Given the description of an element on the screen output the (x, y) to click on. 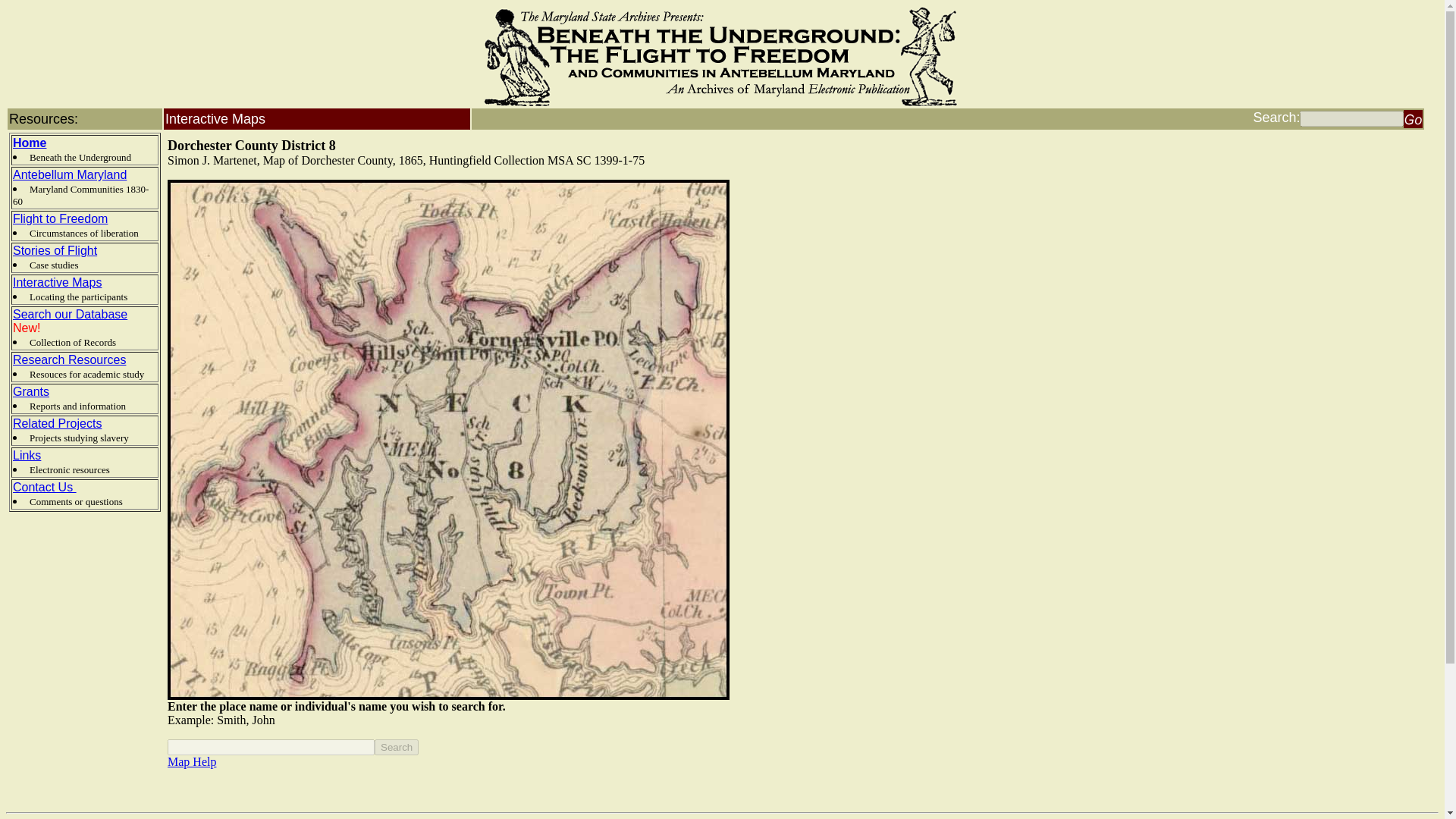
Links (26, 454)
Interactive Maps (57, 282)
Related Projects (57, 422)
Stories of Flight (55, 250)
Map Help (191, 761)
Search (396, 747)
Contact Us  (45, 486)
Home (29, 142)
Antebellum Maryland (69, 174)
Flight to Freedom (60, 218)
Grants (31, 391)
Search (396, 747)
Research Resources (69, 359)
Search our Database (70, 314)
